Given the description of an element on the screen output the (x, y) to click on. 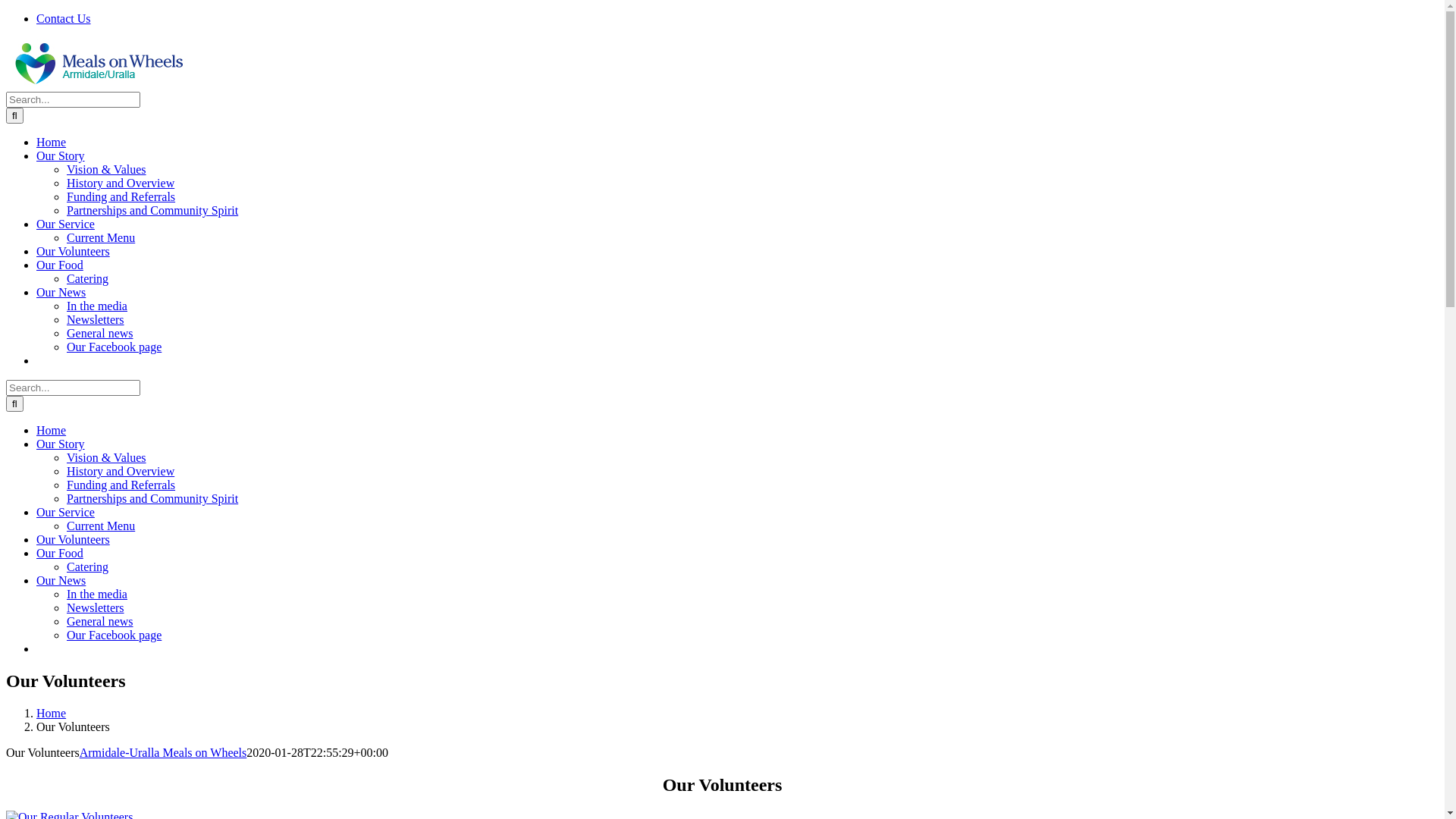
General news Element type: text (99, 332)
Vision & Values Element type: text (106, 169)
Home Element type: text (50, 712)
Our Story Element type: text (60, 443)
Funding and Referrals Element type: text (120, 484)
Newsletters Element type: text (95, 607)
Our Food Element type: text (59, 552)
Partnerships and Community Spirit Element type: text (152, 498)
In the media Element type: text (96, 593)
General news Element type: text (99, 621)
Our Volunteers Element type: text (72, 539)
Home Element type: text (50, 141)
In the media Element type: text (96, 305)
Partnerships and Community Spirit Element type: text (152, 209)
Newsletters Element type: text (95, 319)
Catering Element type: text (87, 278)
Our Food Element type: text (59, 264)
Vision & Values Element type: text (106, 457)
History and Overview Element type: text (120, 470)
Current Menu Element type: text (100, 237)
Our Facebook page Element type: text (113, 634)
Our Service Element type: text (65, 511)
Current Menu Element type: text (100, 525)
Our News Element type: text (60, 580)
Our Service Element type: text (65, 223)
Skip to content Element type: text (5, 11)
Contact Us Element type: text (63, 18)
Our Volunteers Element type: text (72, 250)
Our Facebook page Element type: text (113, 346)
Our News Element type: text (60, 291)
Home Element type: text (50, 429)
Catering Element type: text (87, 566)
Funding and Referrals Element type: text (120, 196)
Armidale-Uralla Meals on Wheels Element type: text (163, 752)
Our Story Element type: text (60, 155)
History and Overview Element type: text (120, 182)
